Given the description of an element on the screen output the (x, y) to click on. 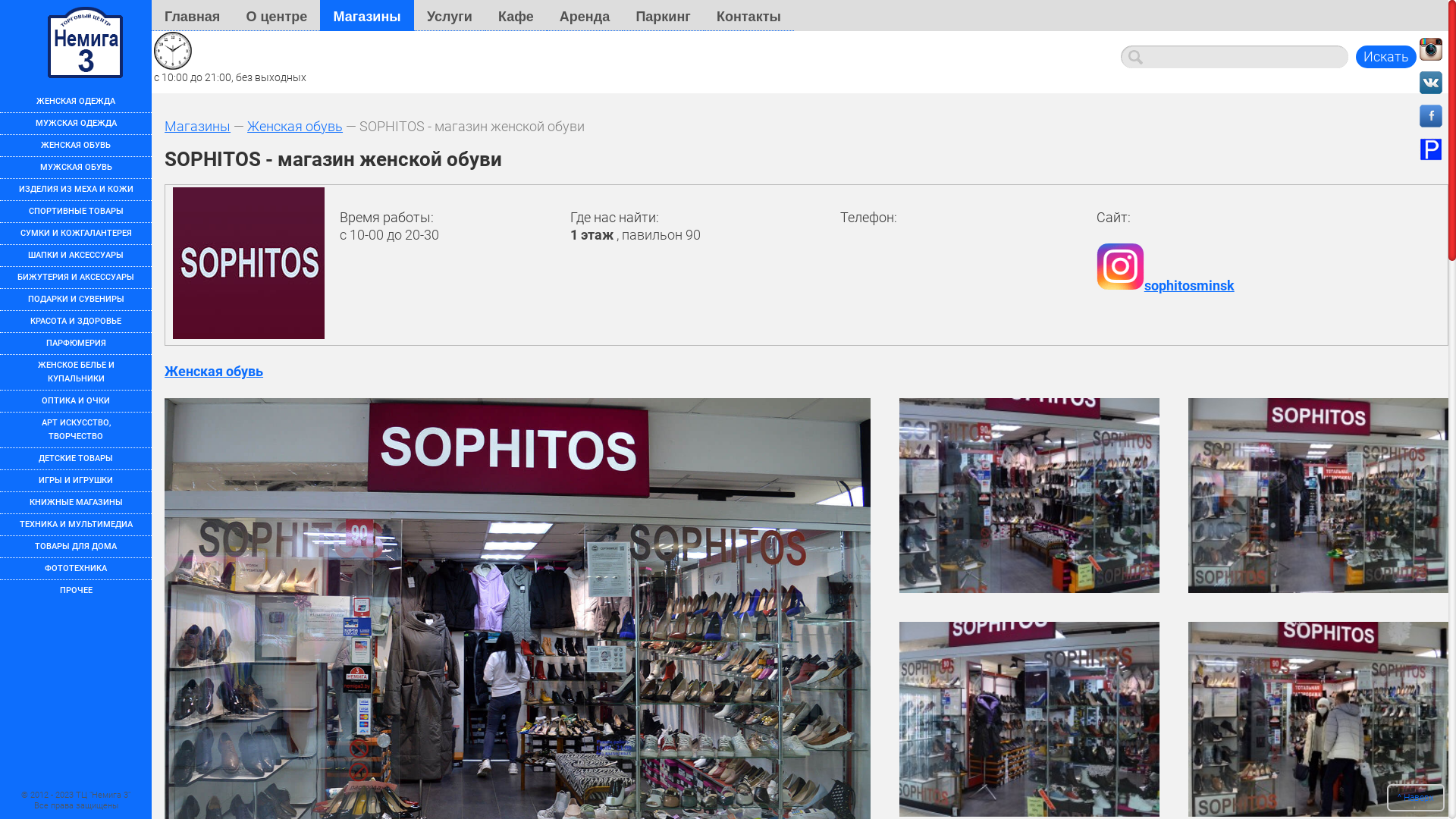
sophitosminsk Element type: text (1165, 285)
